Given the description of an element on the screen output the (x, y) to click on. 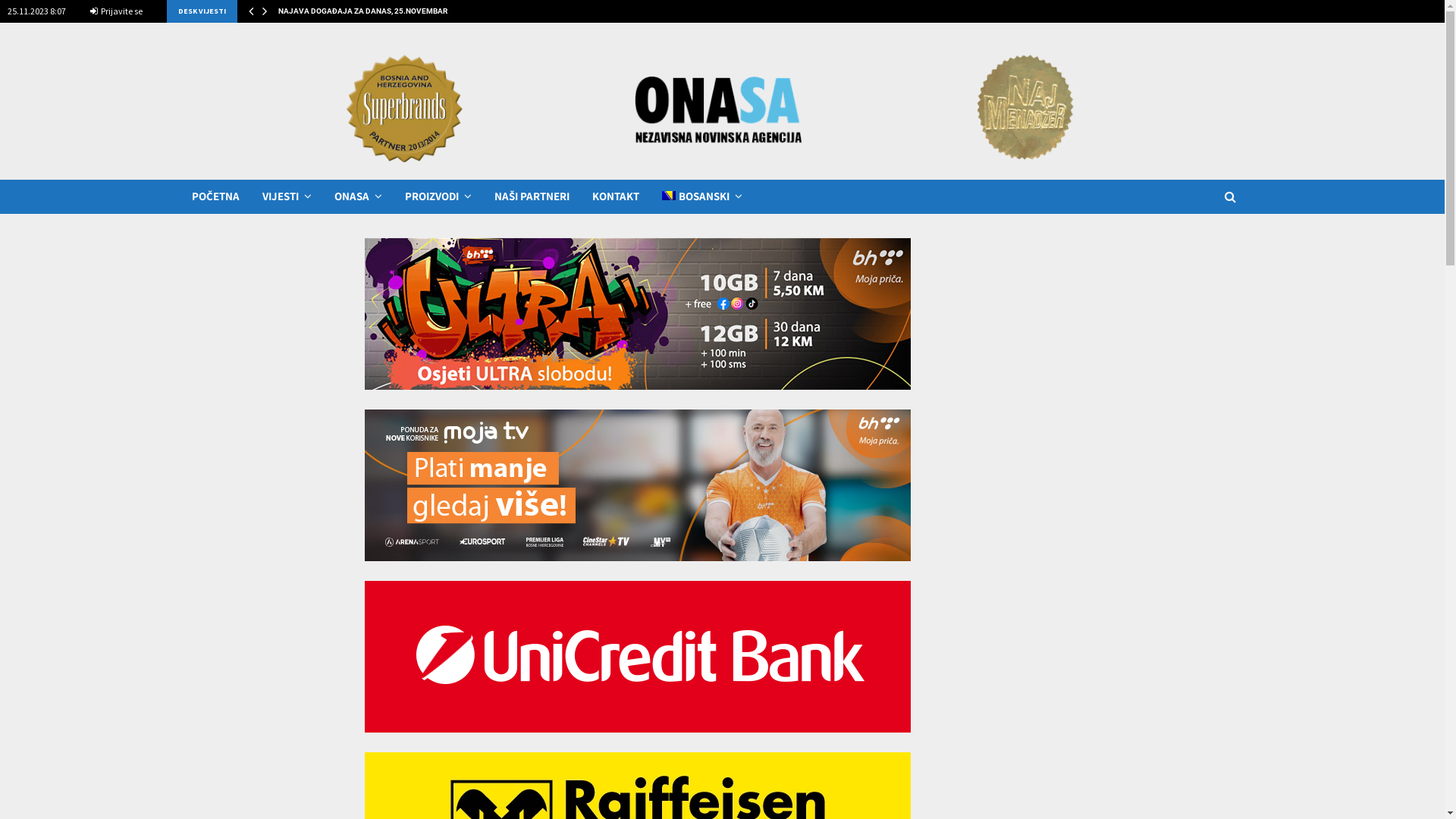
Bosanski Element type: hover (667, 195)
KONTAKT Element type: text (614, 196)
VIJESTI Element type: text (286, 196)
PROIZVODI Element type: text (437, 196)
ONASA Element type: text (357, 196)
BOSANSKI Element type: text (701, 196)
Prijavite se Element type: text (116, 11)
